Given the description of an element on the screen output the (x, y) to click on. 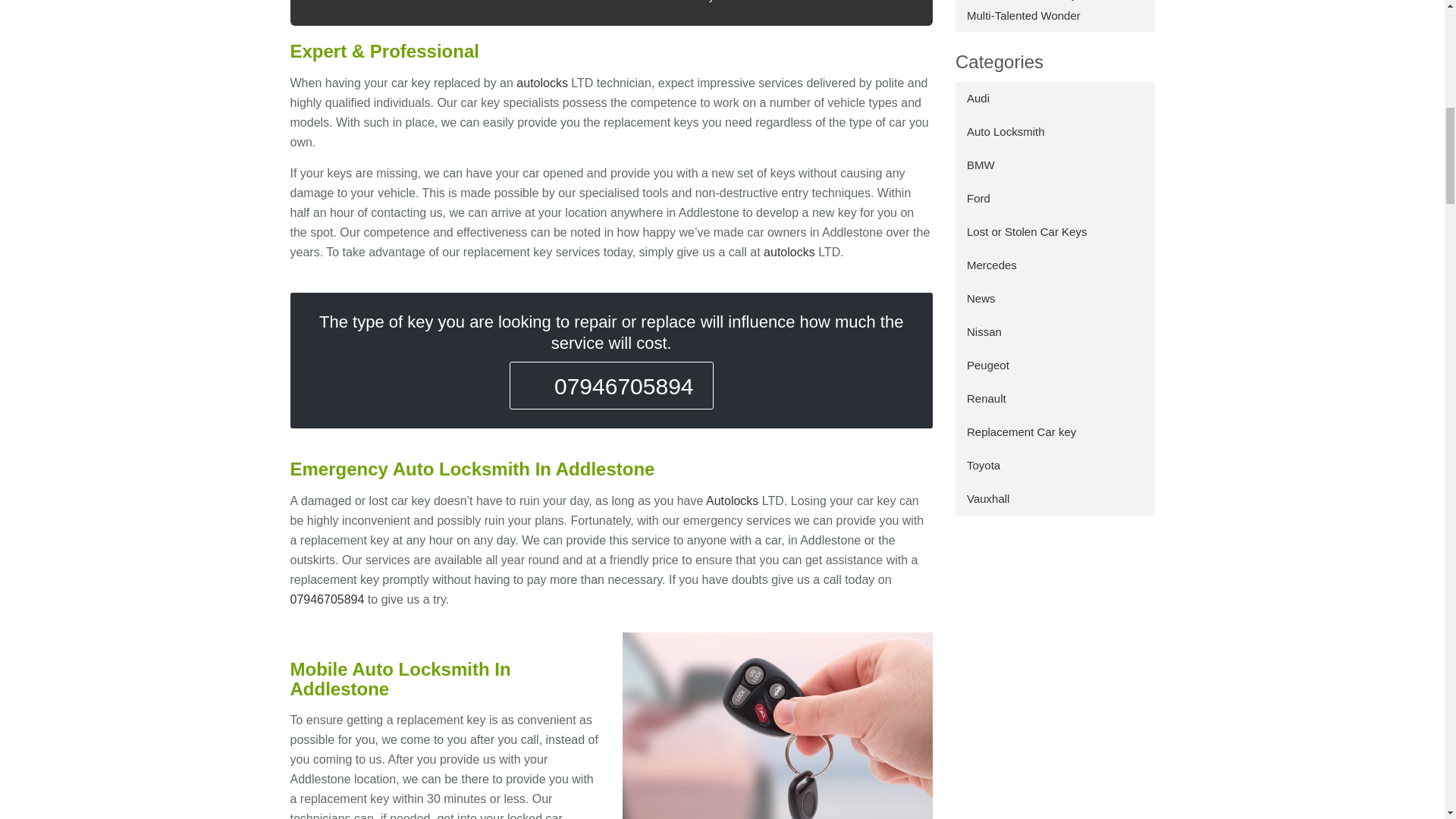
autolocks (788, 251)
autolocks (541, 82)
autolocks (732, 500)
